Given the description of an element on the screen output the (x, y) to click on. 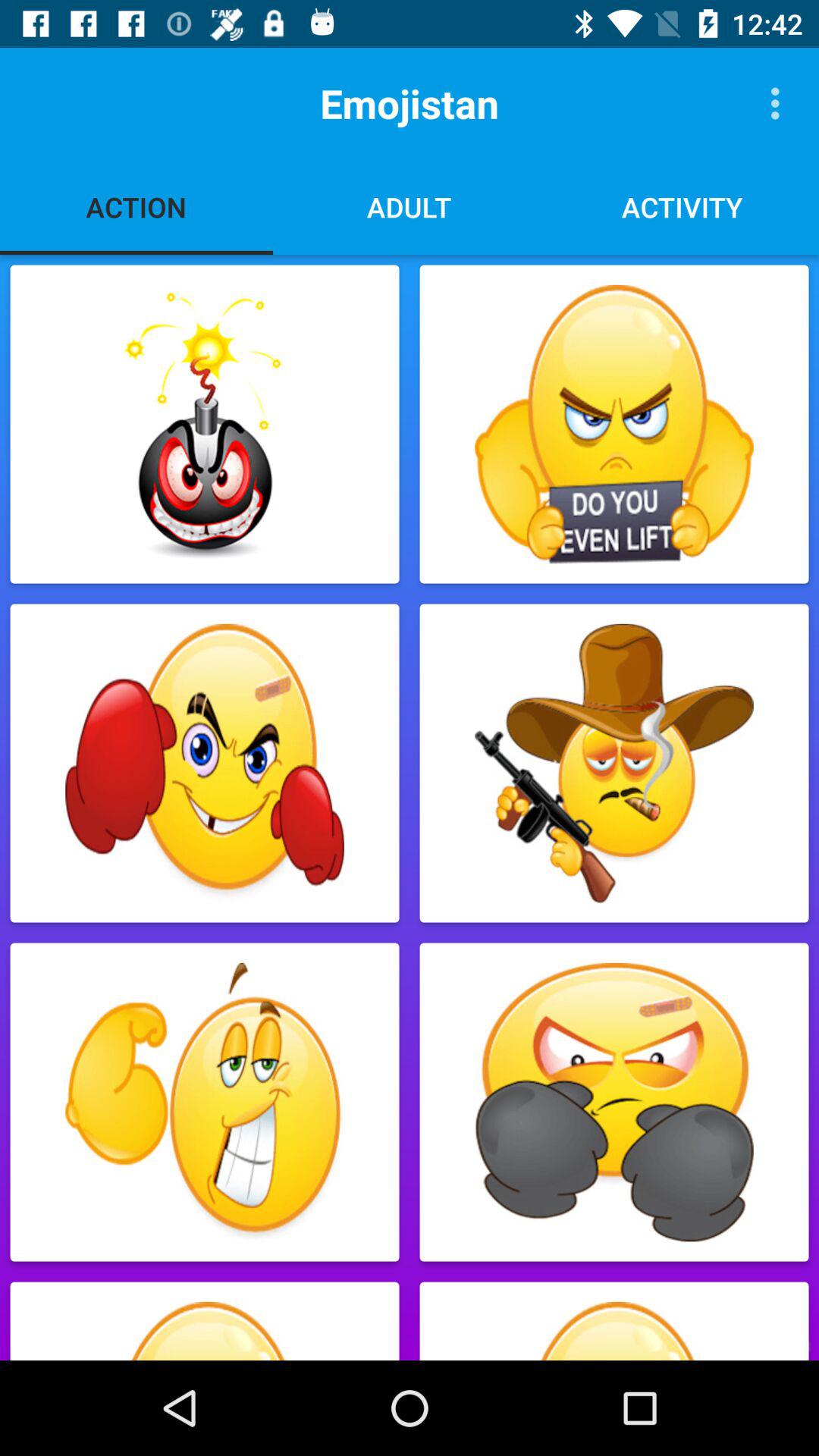
press the item to the right of the emojistan icon (779, 103)
